Given the description of an element on the screen output the (x, y) to click on. 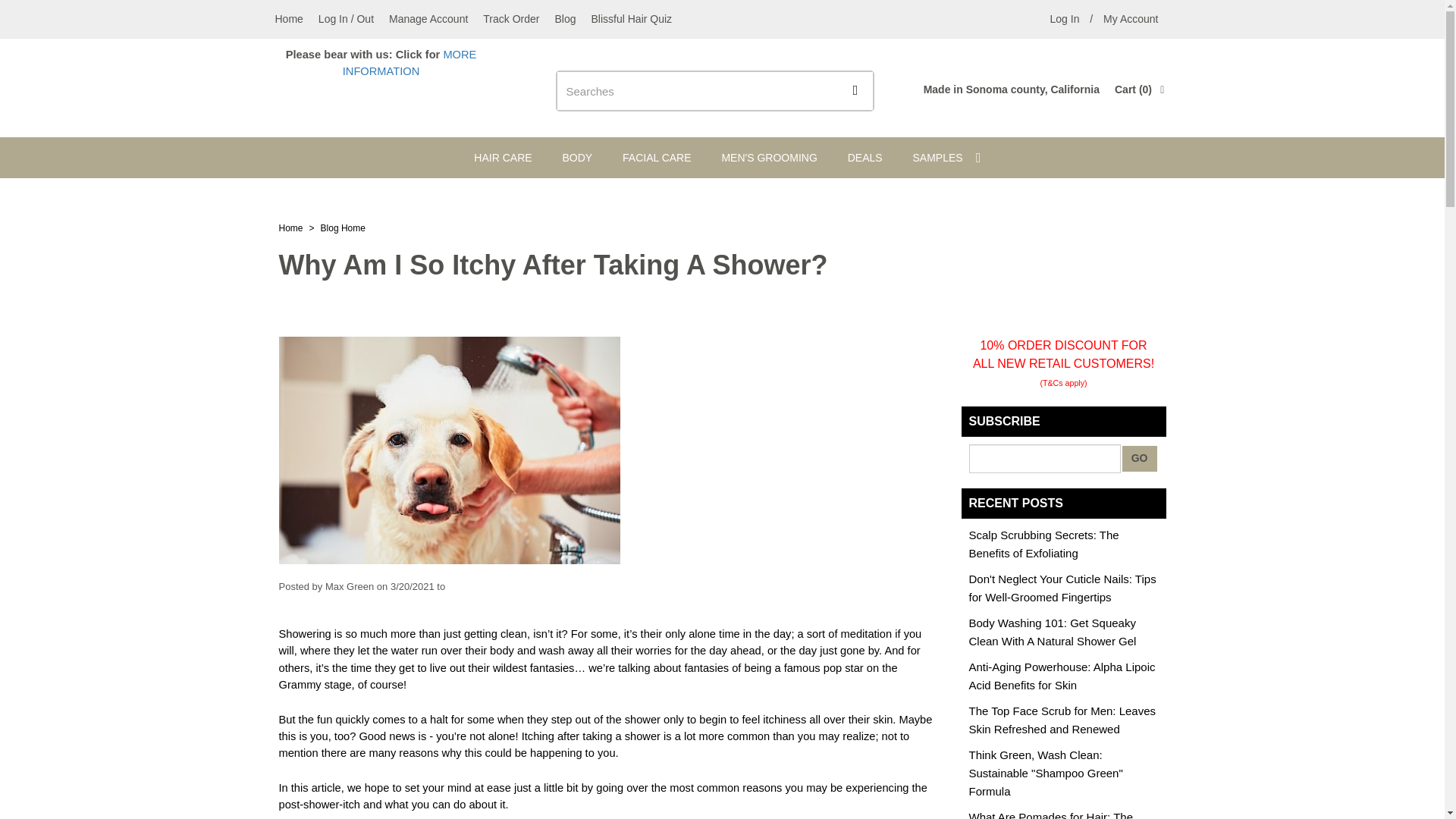
DEALS (865, 157)
MEN'S GROOMING (768, 157)
BODY (576, 157)
HAIR CARE (1064, 18)
Blog (1131, 18)
Home (502, 157)
Manage Account (565, 18)
FACIAL CARE (288, 18)
Blog Home (428, 18)
Home (656, 157)
Why Am I So Itchy After Taking A Shower? (342, 227)
Track Order (290, 227)
